Given the description of an element on the screen output the (x, y) to click on. 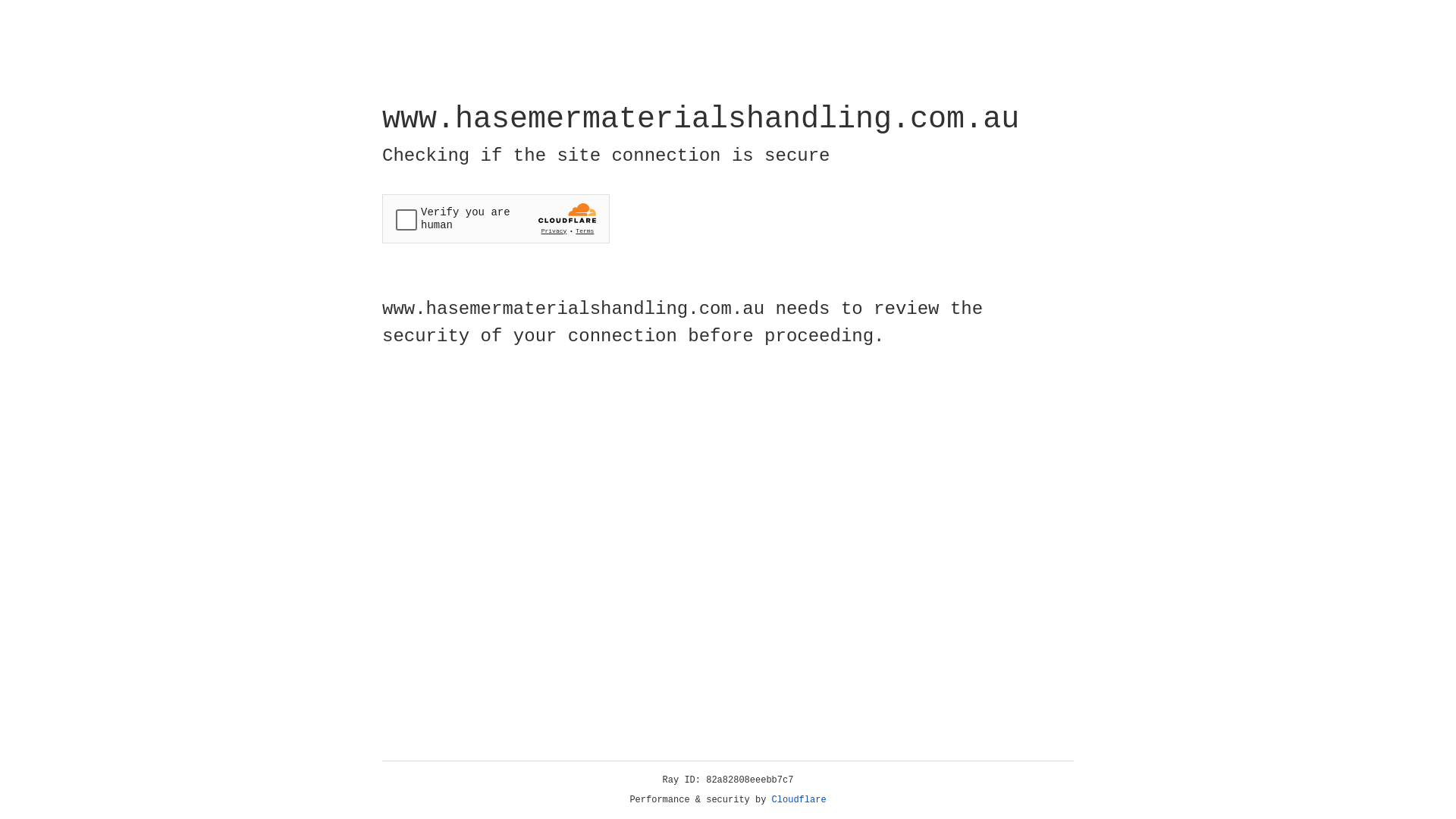
Cloudflare Element type: text (798, 799)
Widget containing a Cloudflare security challenge Element type: hover (495, 218)
